Given the description of an element on the screen output the (x, y) to click on. 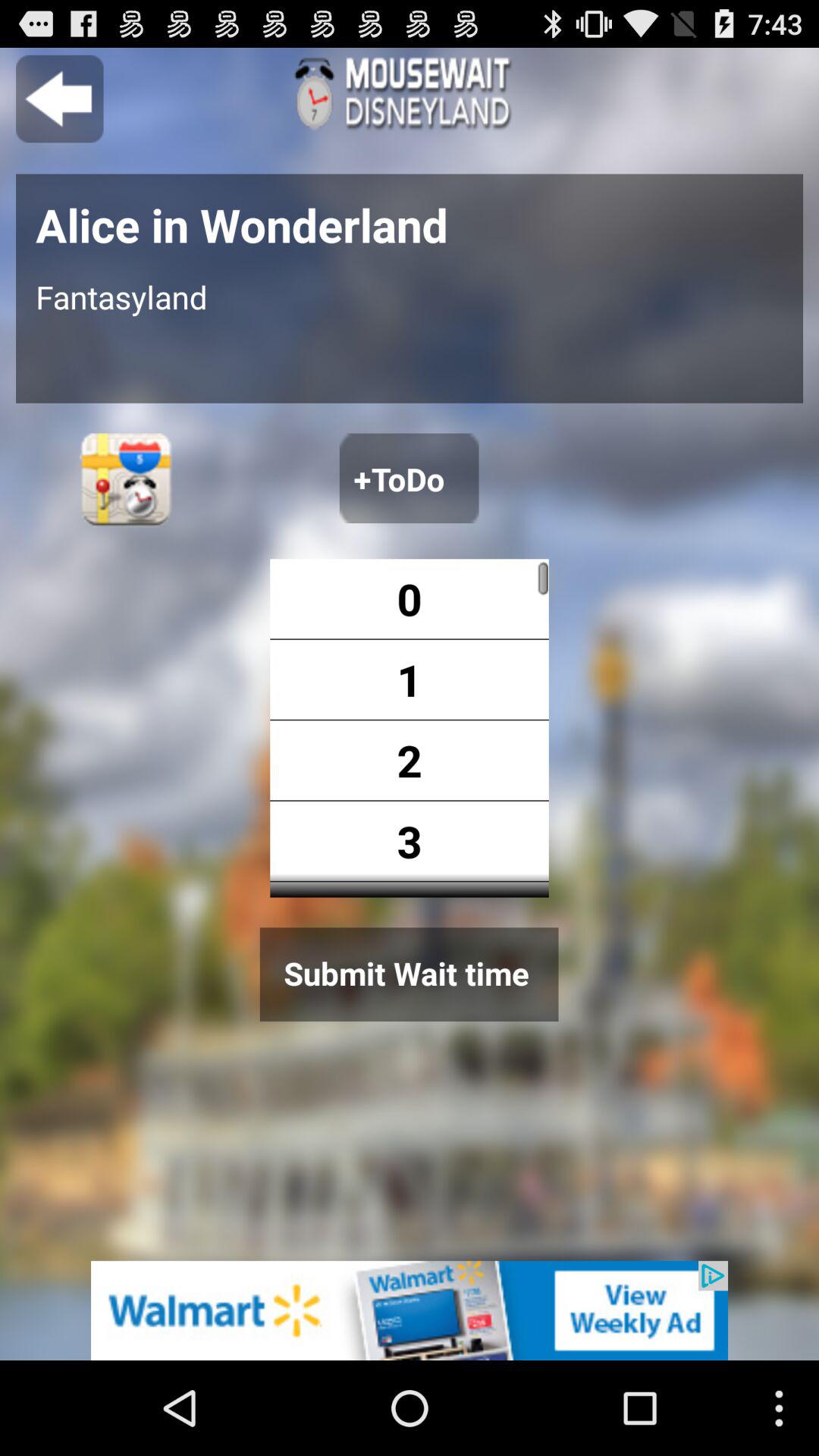
go back (59, 98)
